Given the description of an element on the screen output the (x, y) to click on. 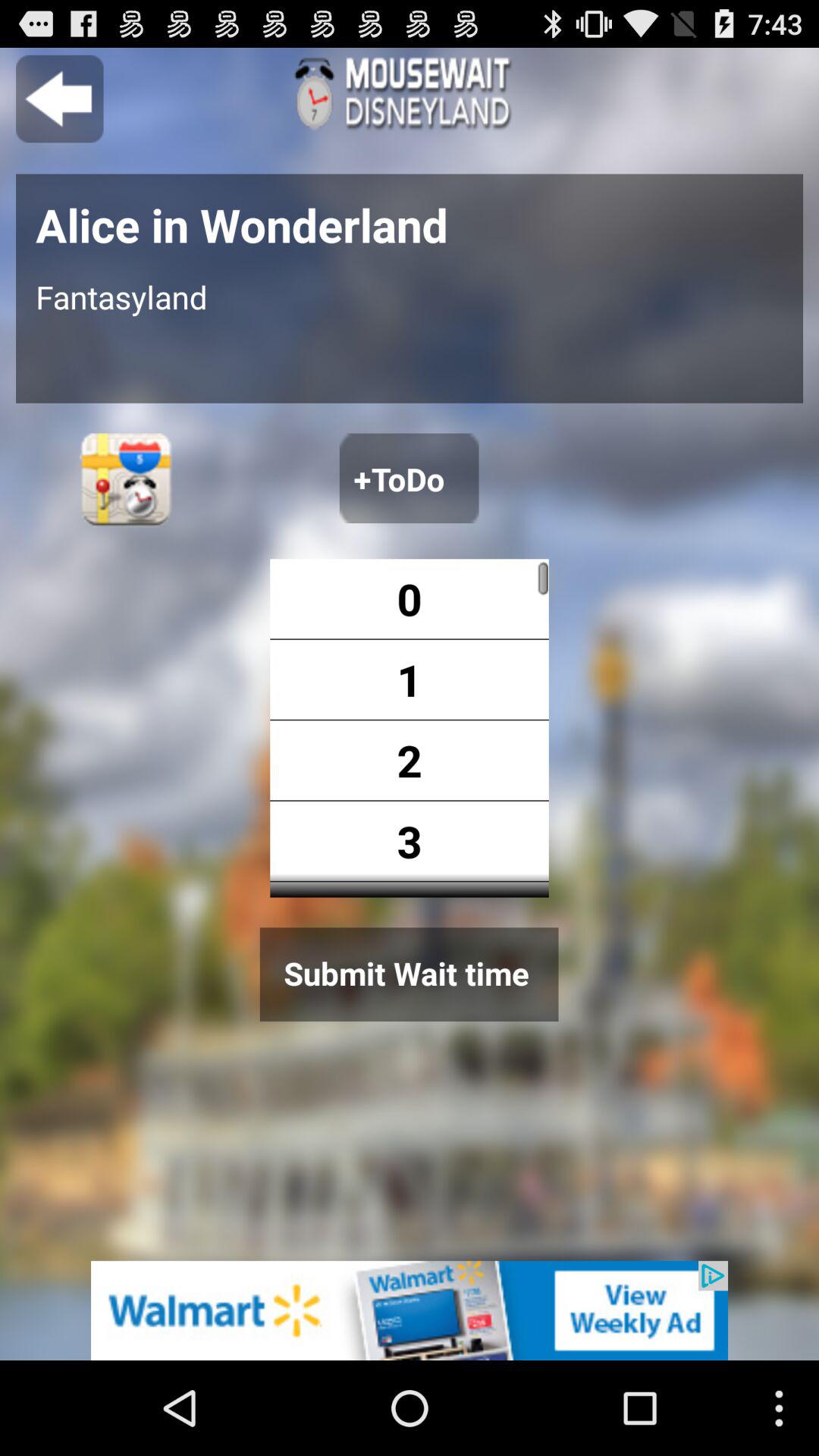
go back (59, 98)
